Given the description of an element on the screen output the (x, y) to click on. 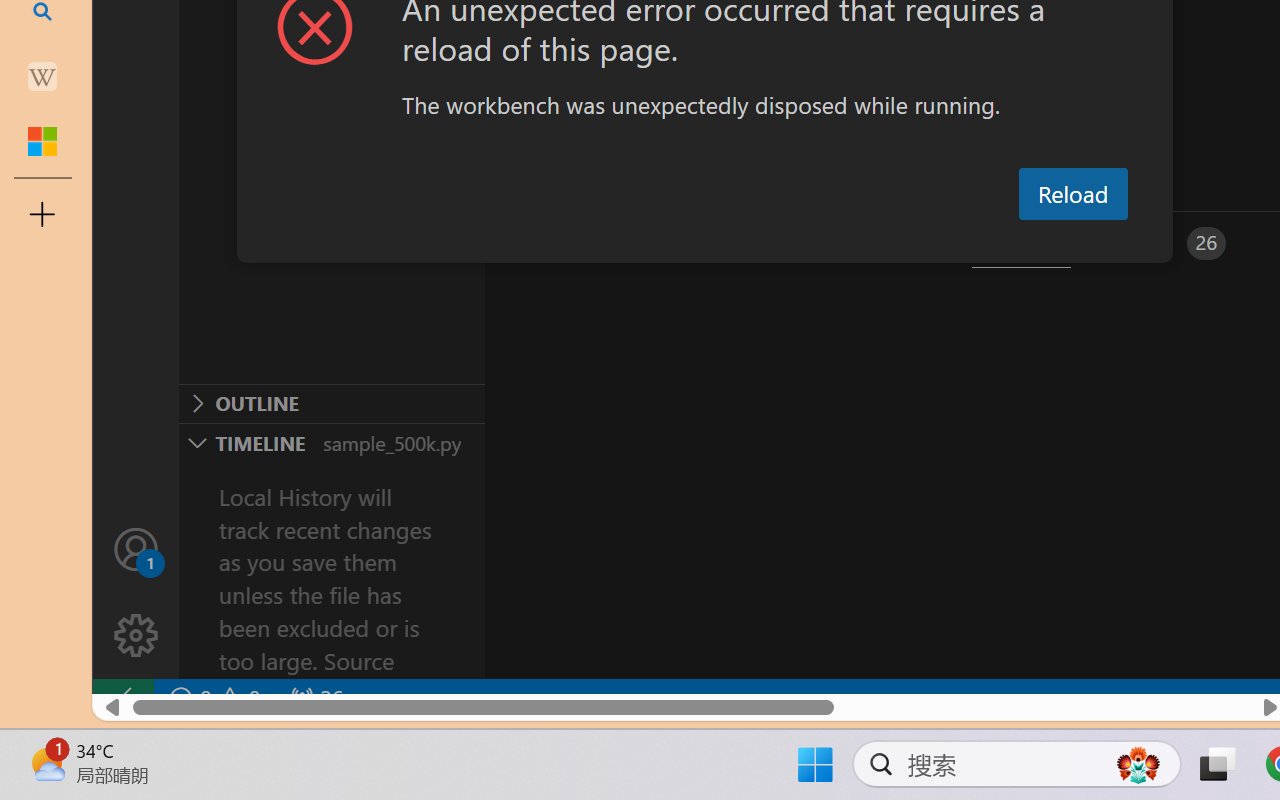
Outline Section (331, 403)
Terminal (Ctrl+`) (1021, 243)
Reload (1071, 193)
